Given the description of an element on the screen output the (x, y) to click on. 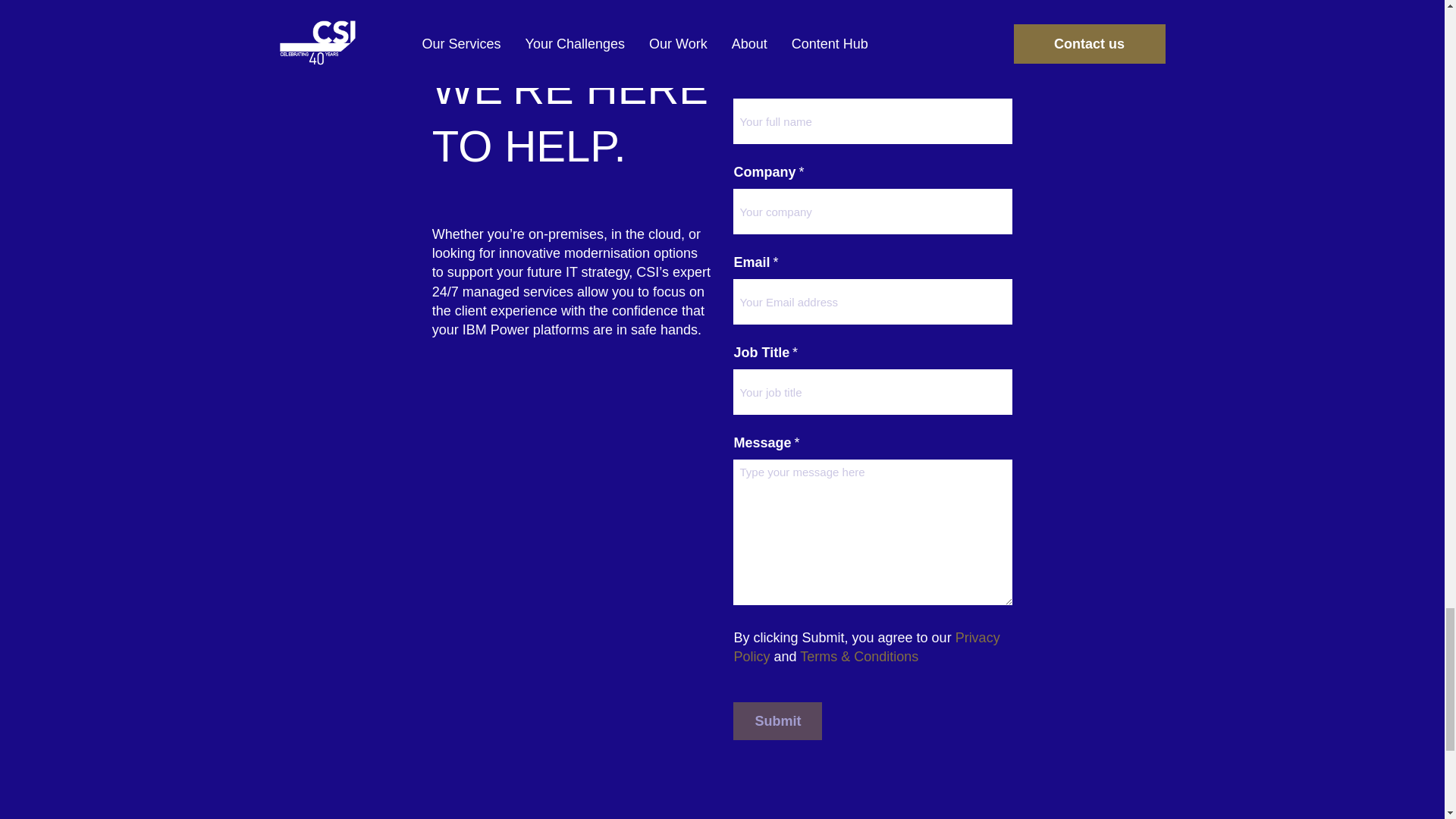
Submit (777, 720)
